Given the description of an element on the screen output the (x, y) to click on. 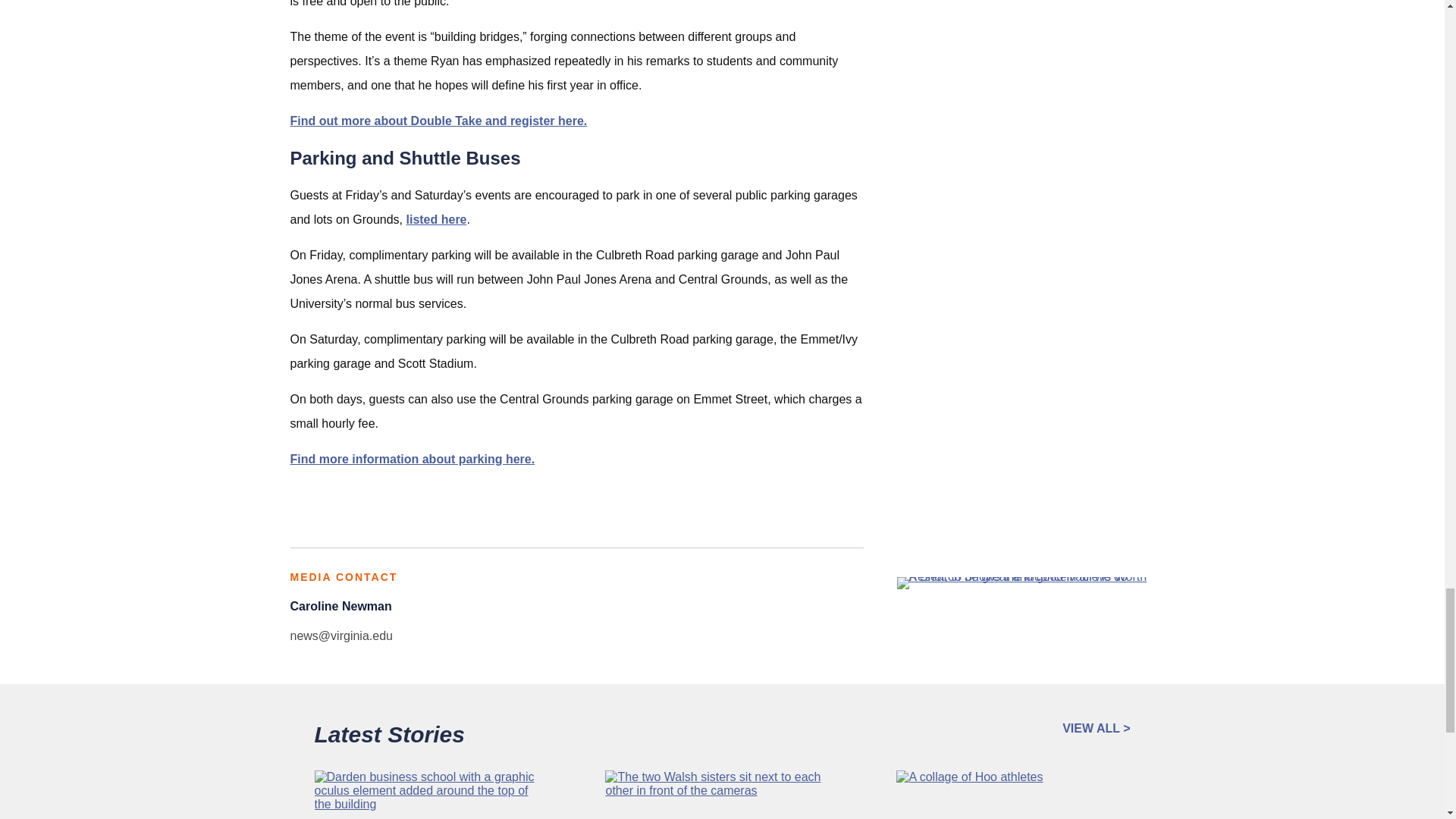
Find out more about Double Take and register here. (437, 120)
